Given the description of an element on the screen output the (x, y) to click on. 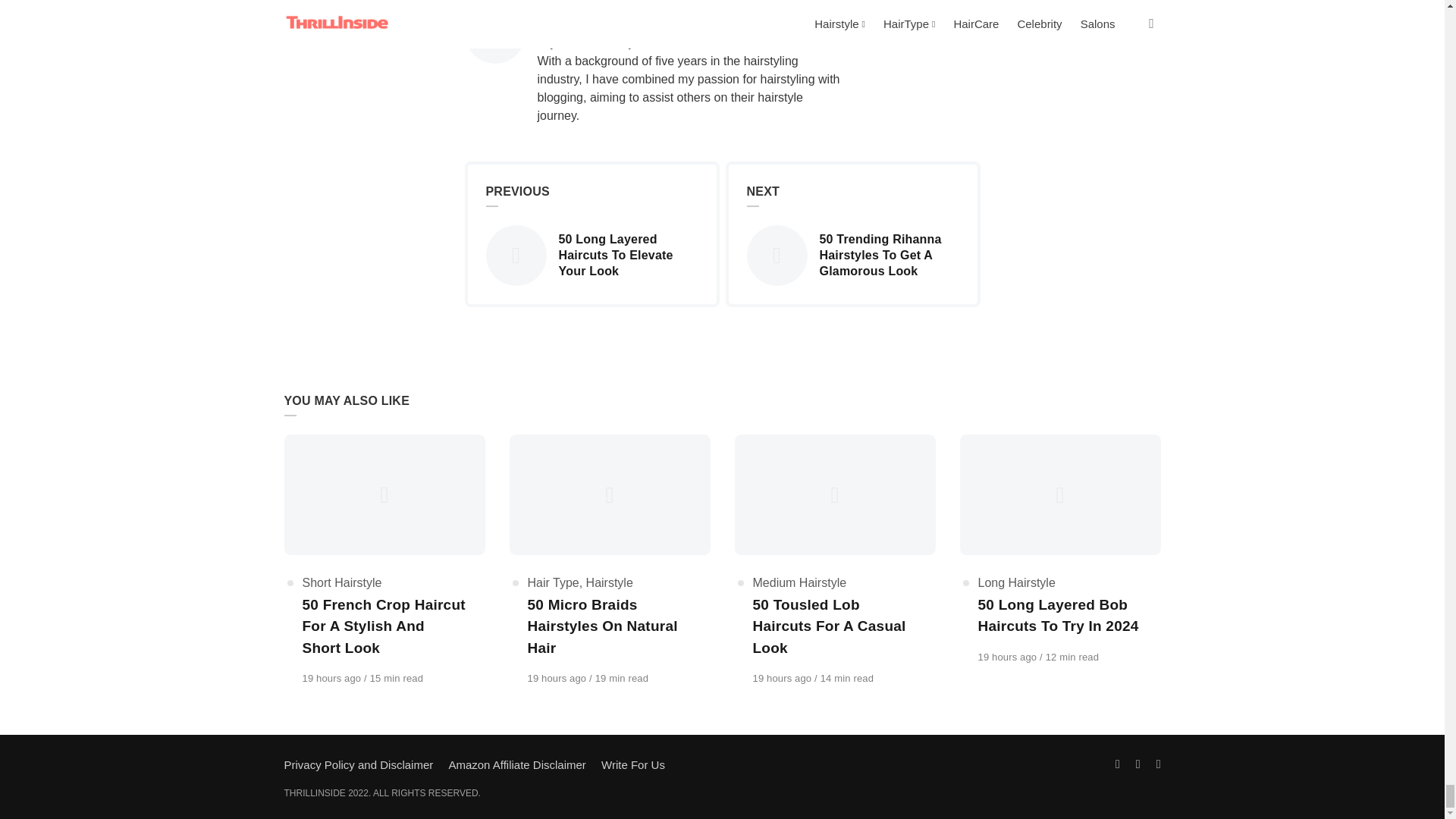
19 hours ago (331, 677)
19 hours ago (688, 19)
Short Hairstyle (558, 677)
50 Long Layered Haircuts To Elevate Your Look (341, 582)
50 Trending Rihanna Hairstyles To Get A Glamorous Look (590, 255)
April 19, 2024 (851, 255)
April 19, 2024 (782, 677)
Hair Type (331, 677)
April 19, 2024 (553, 582)
